Given the description of an element on the screen output the (x, y) to click on. 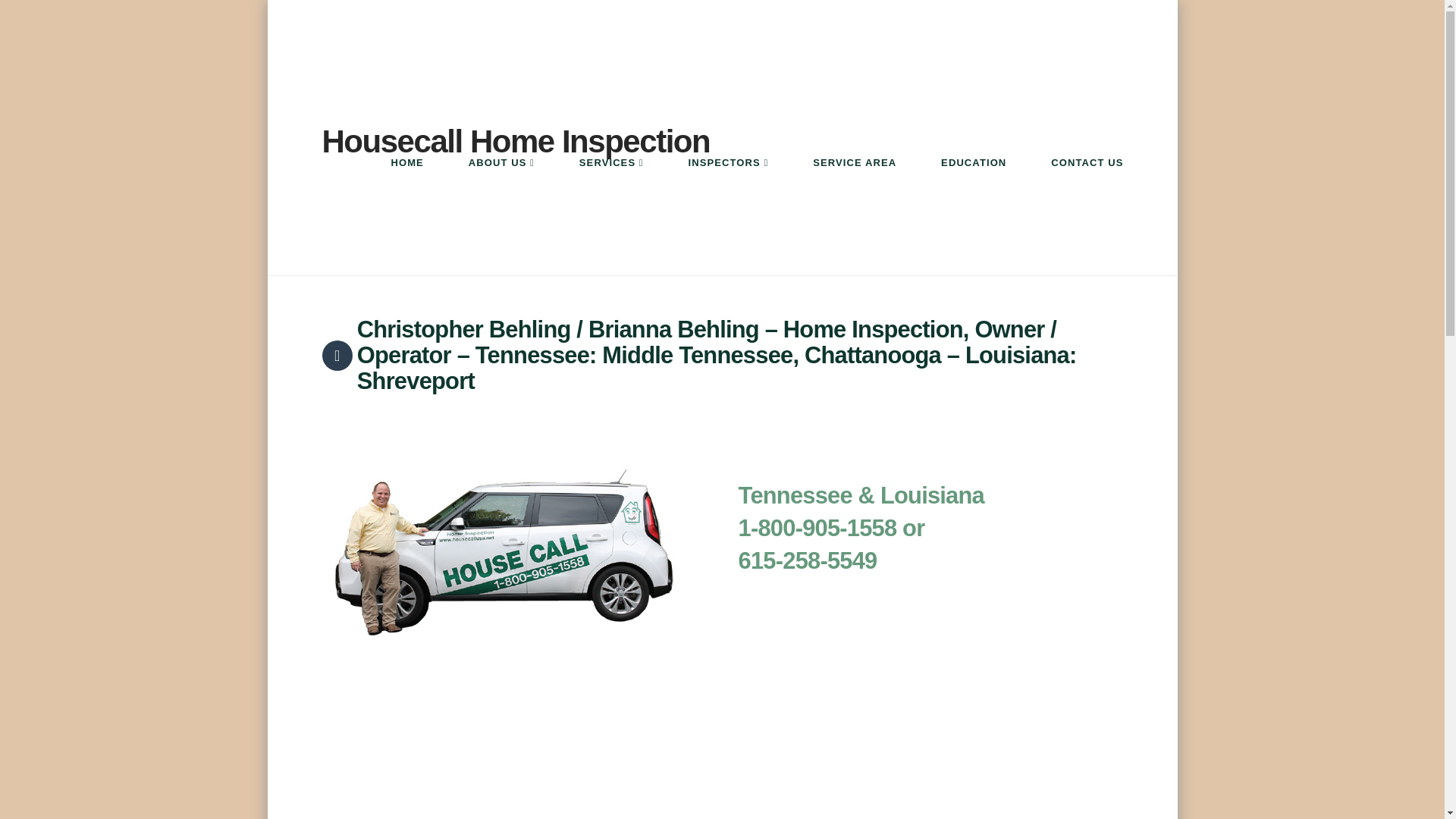
INSPECTORS (727, 188)
SERVICES (610, 188)
Housecall Home Inspection (515, 142)
HOME (406, 188)
ABOUT US (500, 188)
